Given the description of an element on the screen output the (x, y) to click on. 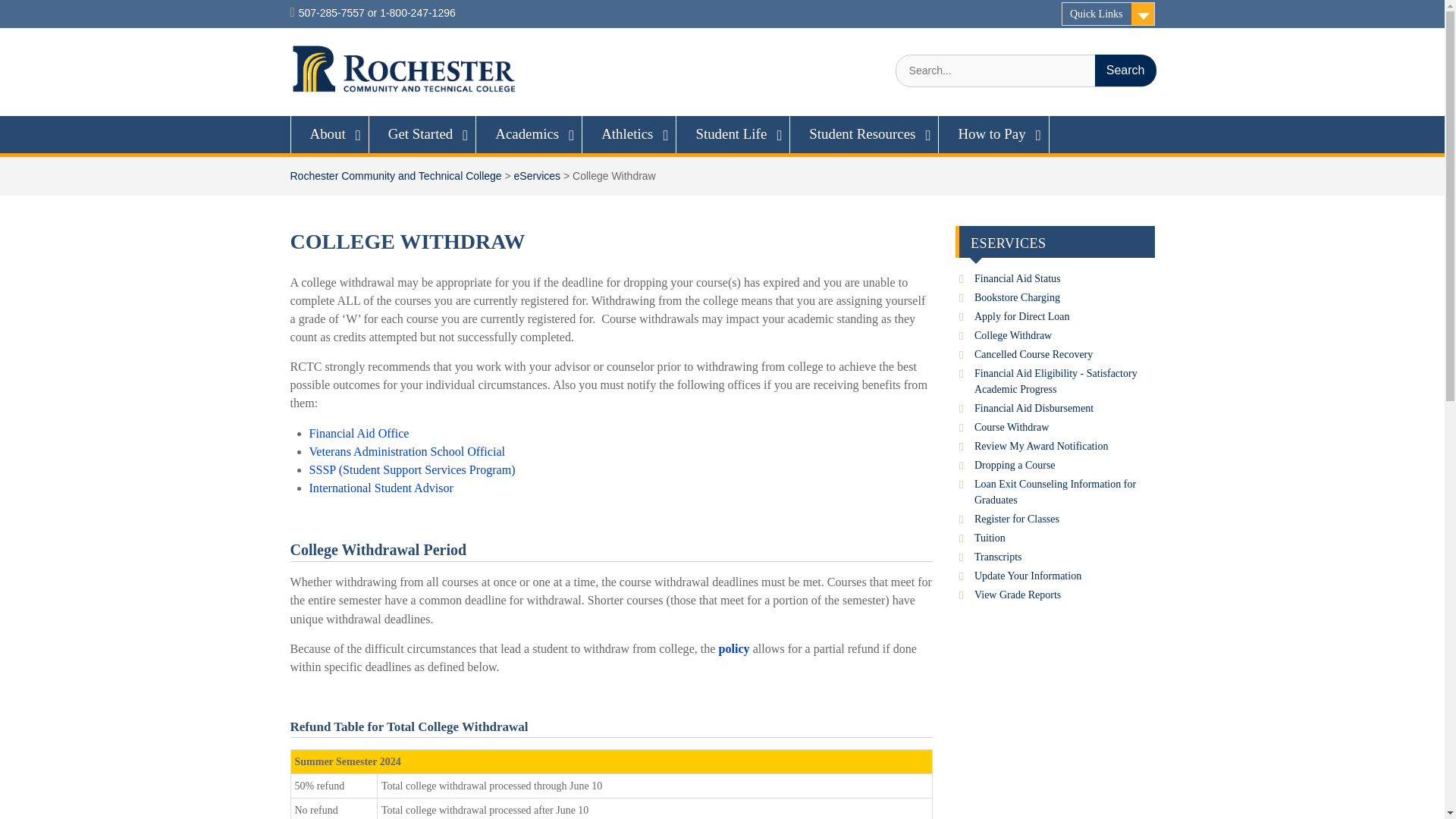
Academics (529, 134)
Go to Rochester Community and Technical College. (394, 175)
Search (1125, 70)
Search for: (1025, 70)
Go to eServices. (536, 175)
Quick Links (1107, 13)
Search (1125, 70)
Get Started (423, 134)
Search (1125, 70)
About (328, 134)
